Given the description of an element on the screen output the (x, y) to click on. 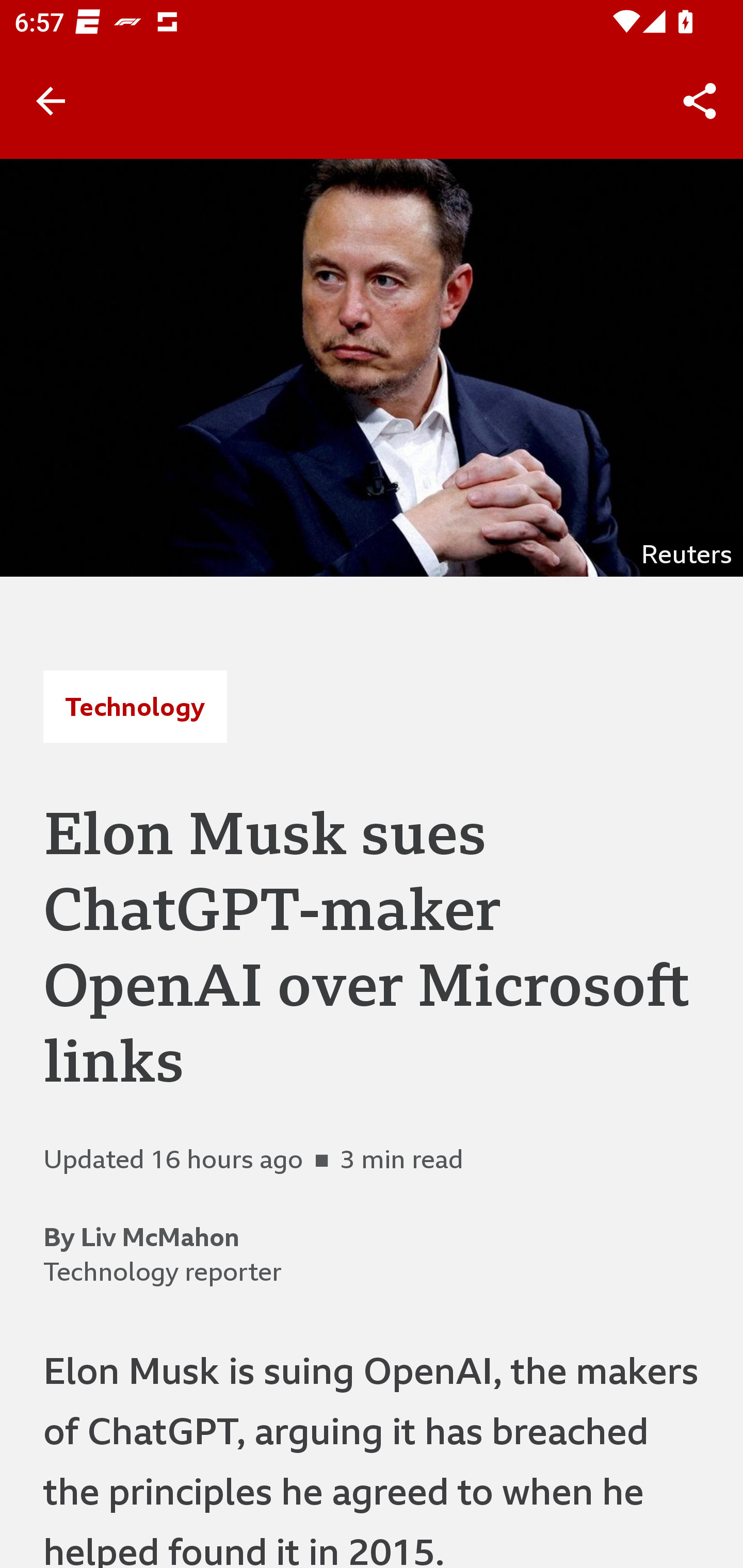
Back (50, 101)
Share (699, 101)
Technology (135, 706)
